Given the description of an element on the screen output the (x, y) to click on. 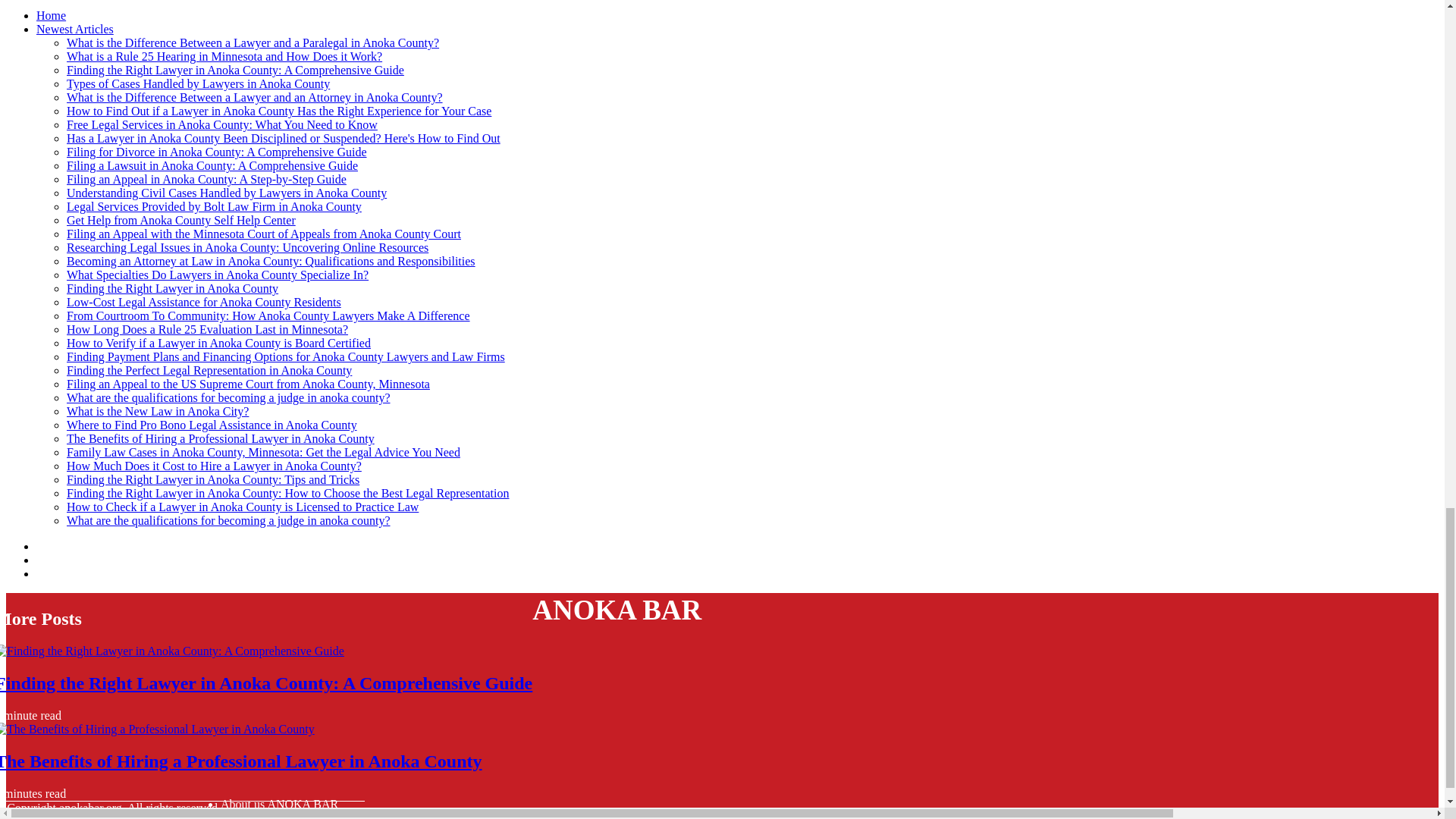
Understanding Civil Cases Handled by Lawyers in Anoka County (226, 192)
Filing an Appeal in Anoka County: A Step-by-Step Guide (206, 178)
What is a Rule 25 Hearing in Minnesota and How Does it Work? (223, 56)
Home (50, 15)
Types of Cases Handled by Lawyers in Anoka County (198, 83)
